Given the description of an element on the screen output the (x, y) to click on. 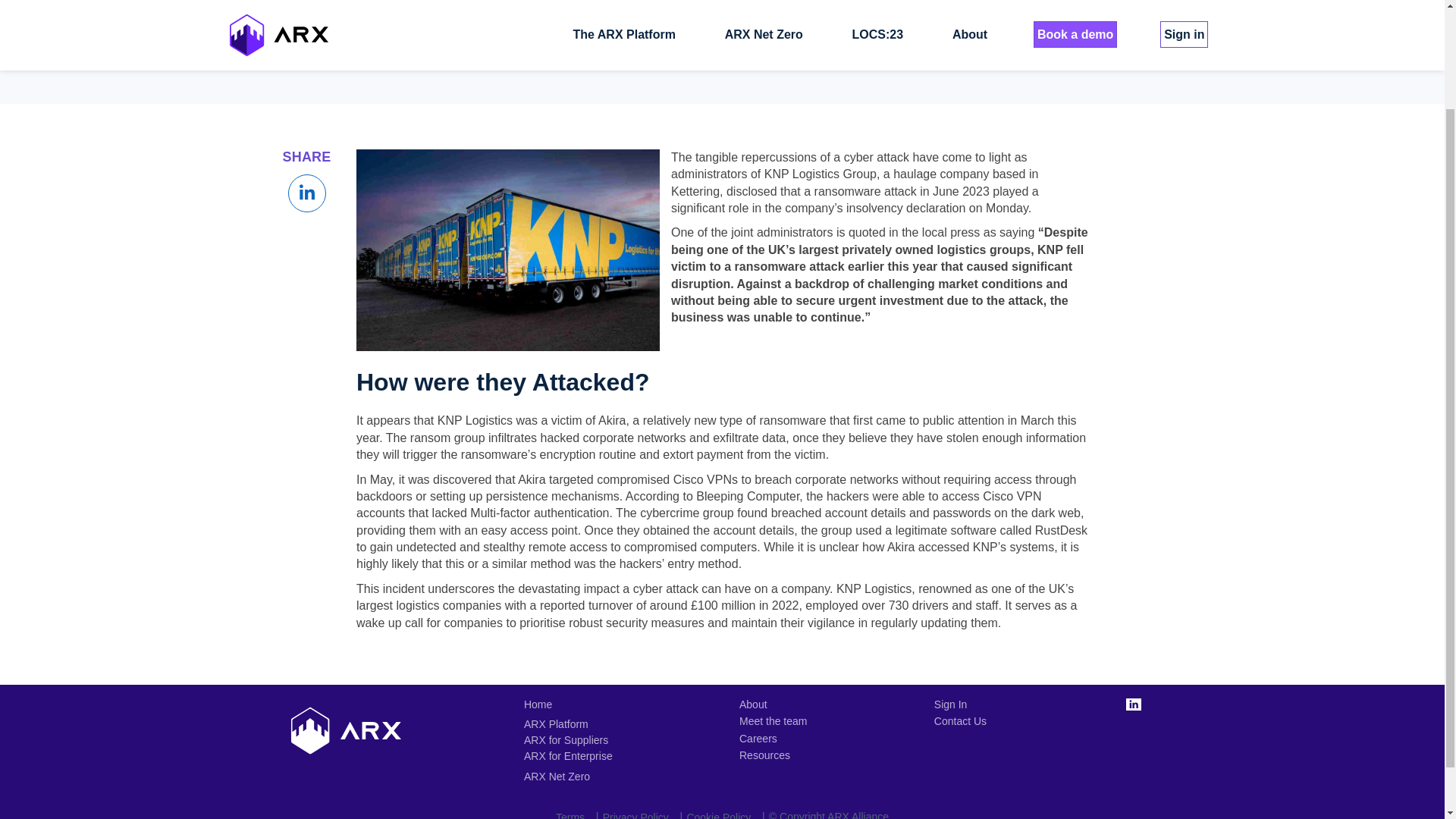
Home (537, 704)
ARX Platform (567, 724)
Sign In (950, 704)
ARX for Suppliers (567, 740)
ARX Net Zero (556, 776)
Contact Us (960, 720)
LinkedIn (1133, 704)
Resources (764, 755)
Careers (757, 738)
Meet the team (772, 720)
